Given the description of an element on the screen output the (x, y) to click on. 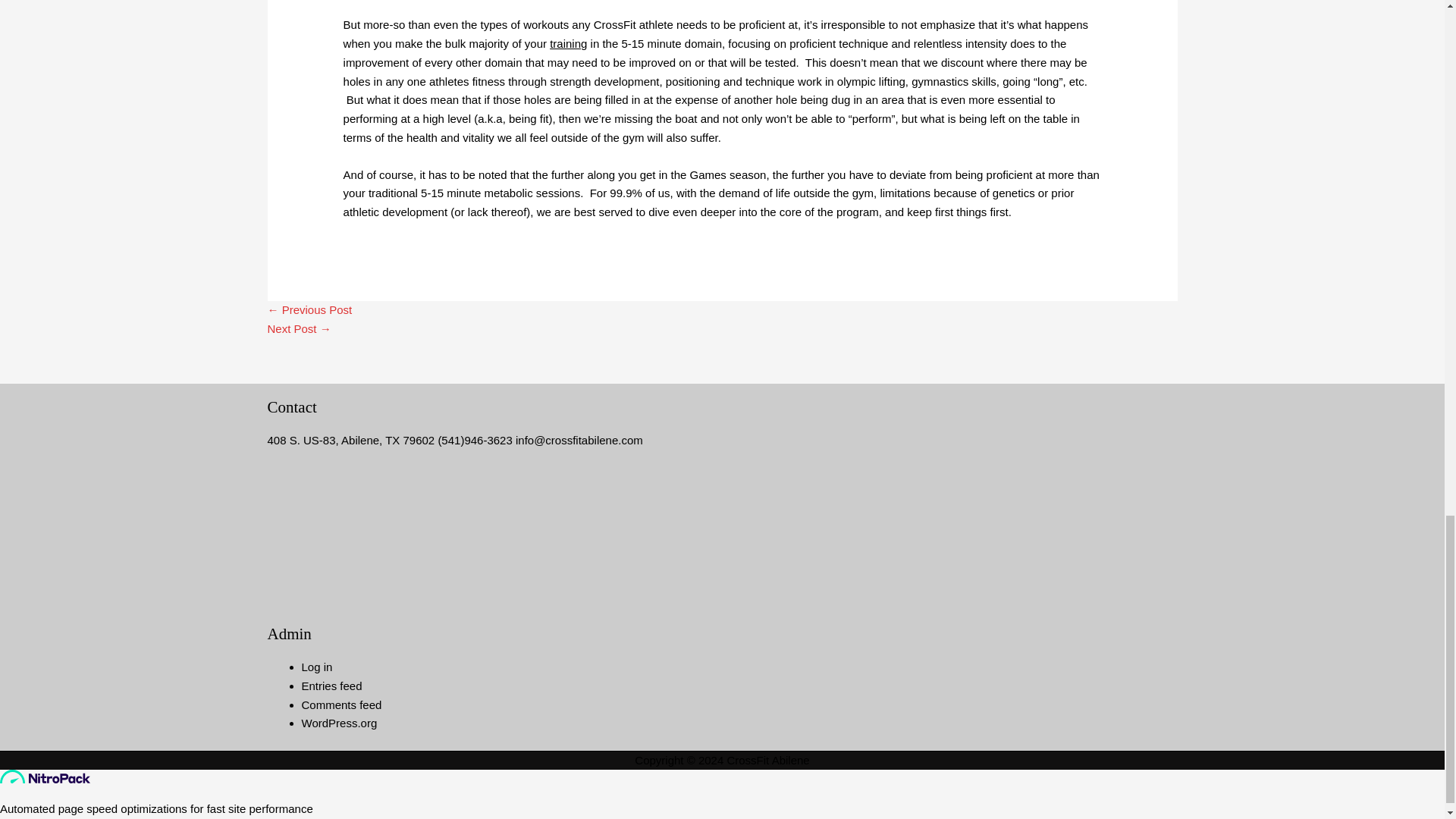
WordPress.org (339, 722)
Log in (317, 666)
Comments feed (341, 704)
Entries feed (331, 685)
